Given the description of an element on the screen output the (x, y) to click on. 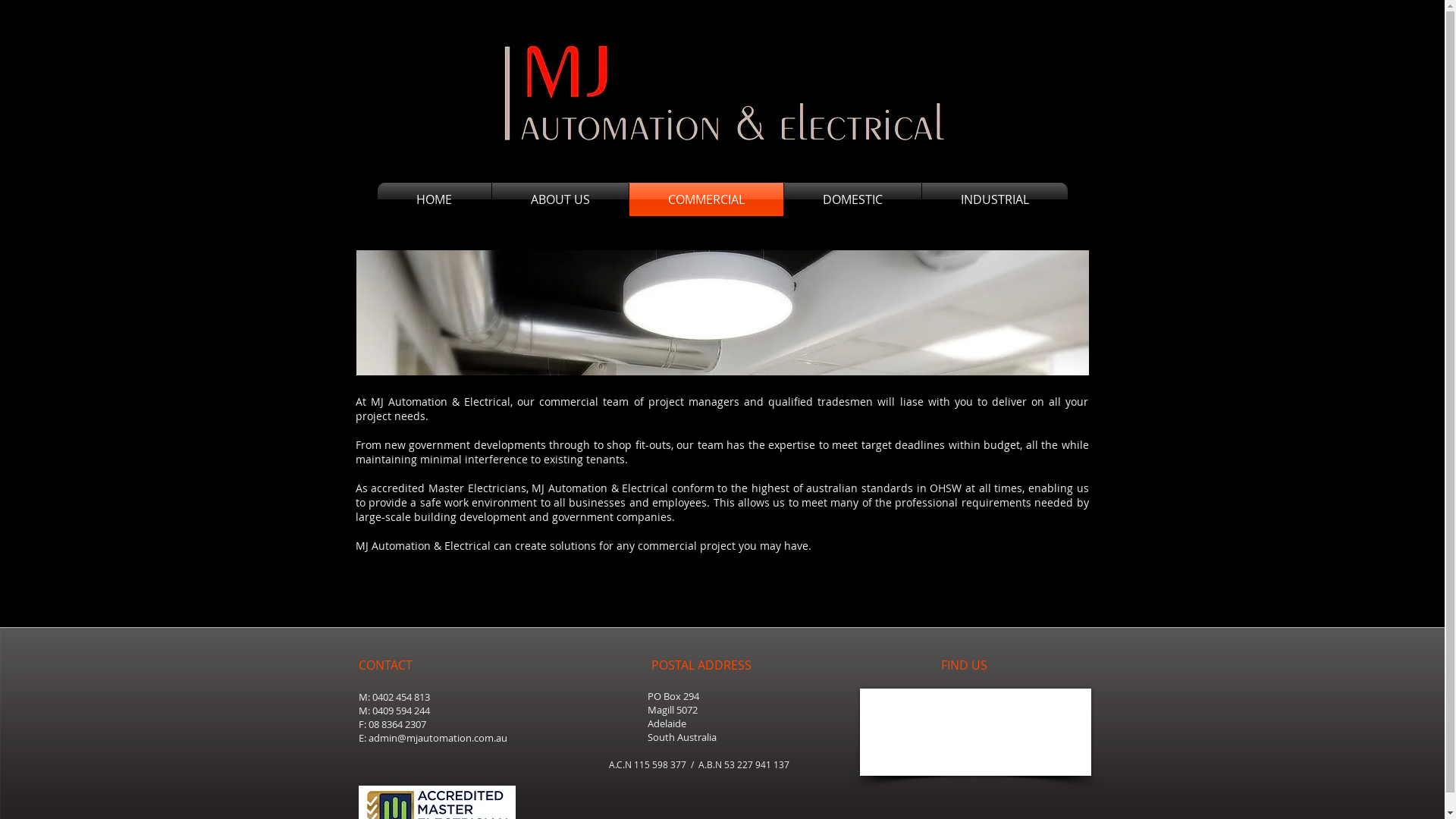
Office Space Element type: hover (722, 312)
logo12.jpg 2014-2-27-9:2:42 Element type: hover (721, 92)
@mjautomation.com.au Element type: text (452, 737)
COMMERCIAL Element type: text (706, 199)
INDUSTRIAL Element type: text (994, 199)
DOMESTIC Element type: text (852, 199)
Social Media Icons Element type: hover (991, 53)
Google Maps Element type: hover (975, 731)
HOME Element type: text (434, 199)
ABOUT US Element type: text (559, 199)
